Given the description of an element on the screen output the (x, y) to click on. 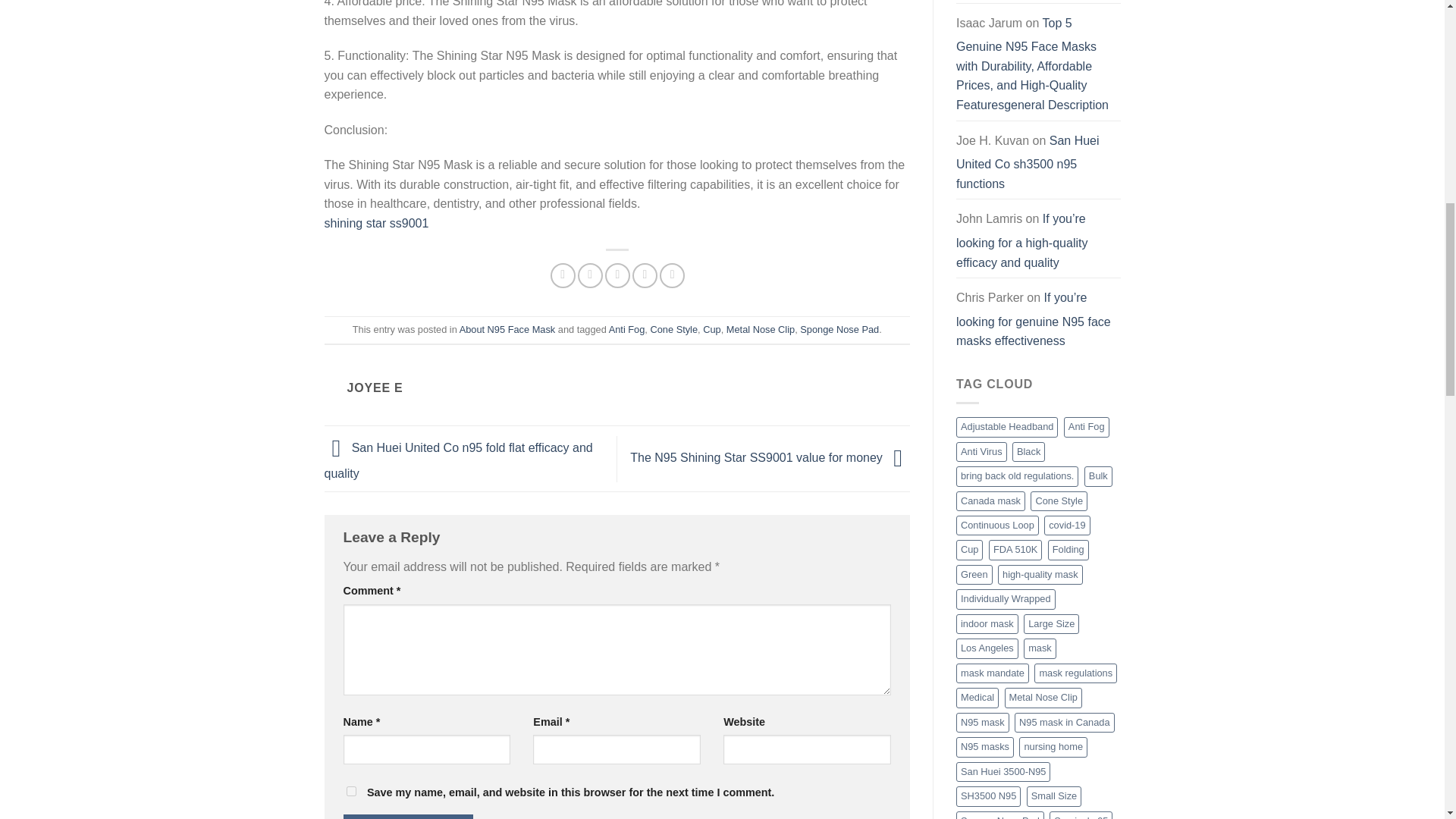
Post Comment (407, 816)
 shining star ss9001 (376, 223)
Share on Twitter (590, 275)
yes (350, 791)
Share on Facebook (562, 275)
Pin on Pinterest (644, 275)
Email to a Friend (617, 275)
